Given the description of an element on the screen output the (x, y) to click on. 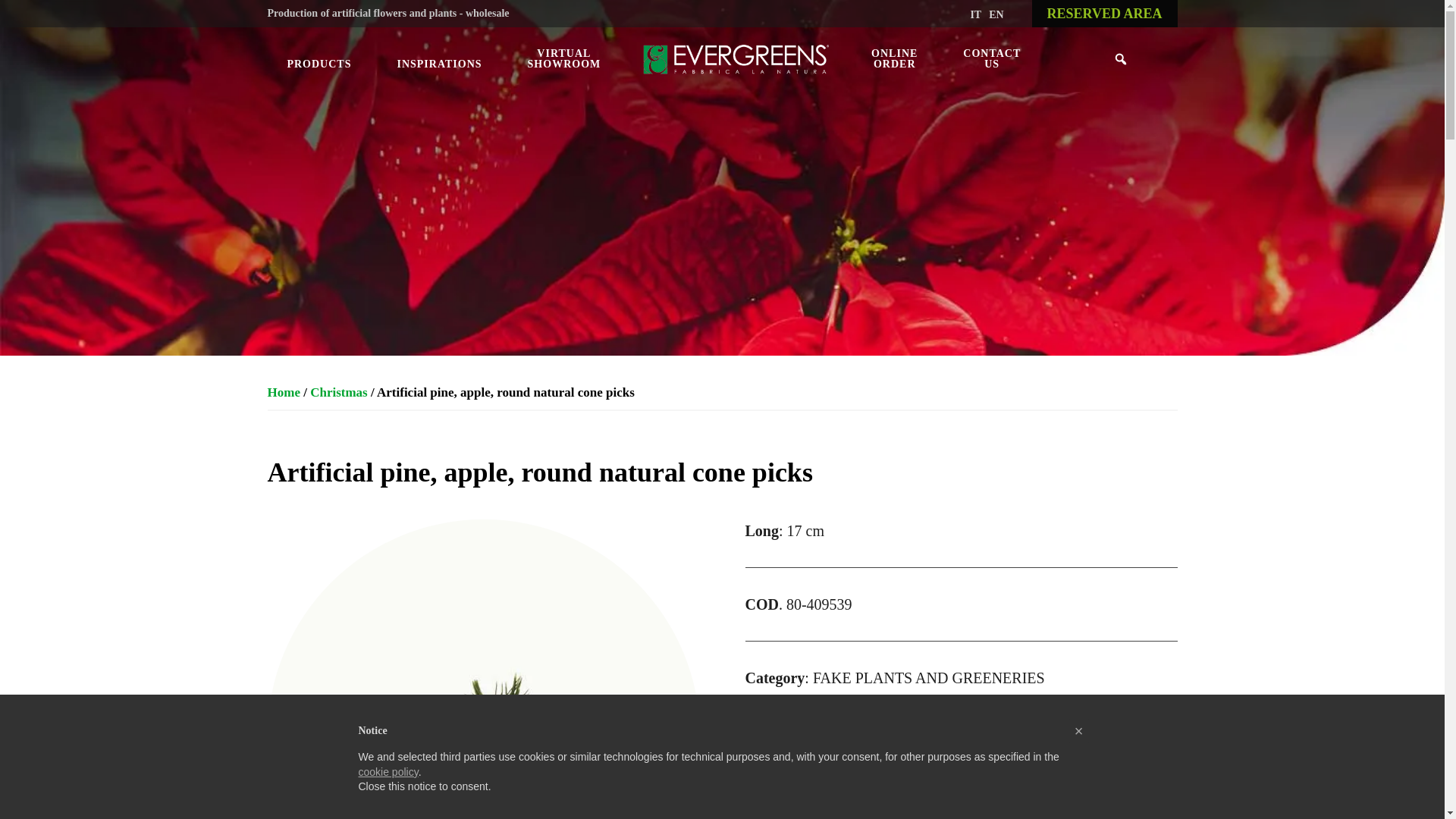
Christmas (339, 391)
PRODUCTS (330, 64)
INSPIRATIONS (438, 64)
ONLINE ORDER (894, 59)
Home (282, 391)
EN (995, 14)
CONTACT US (991, 59)
IT (975, 14)
Evergreens (735, 65)
RESERVED AREA (1104, 13)
